Given the description of an element on the screen output the (x, y) to click on. 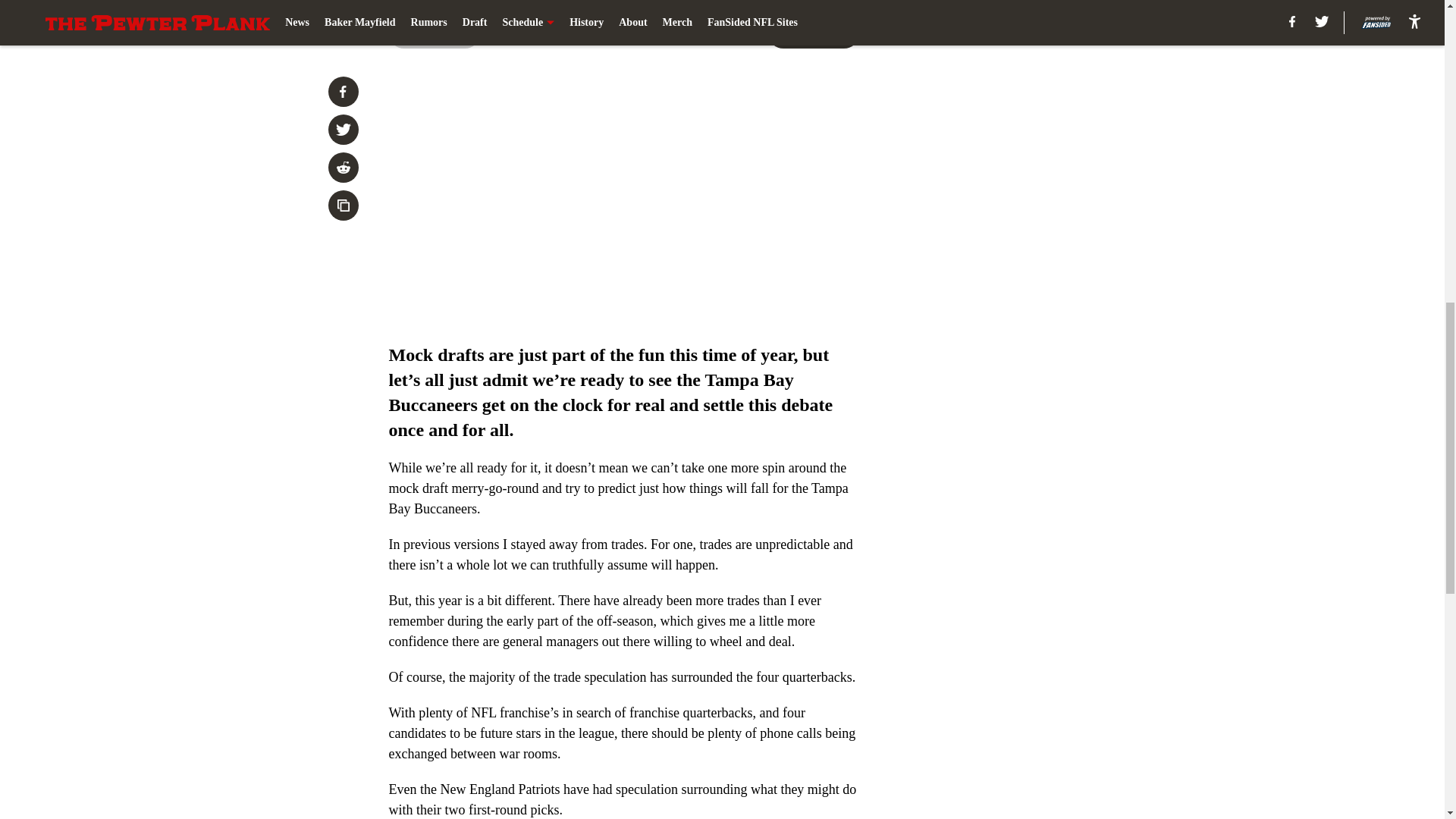
Prev (433, 33)
Next (813, 33)
